Given the description of an element on the screen output the (x, y) to click on. 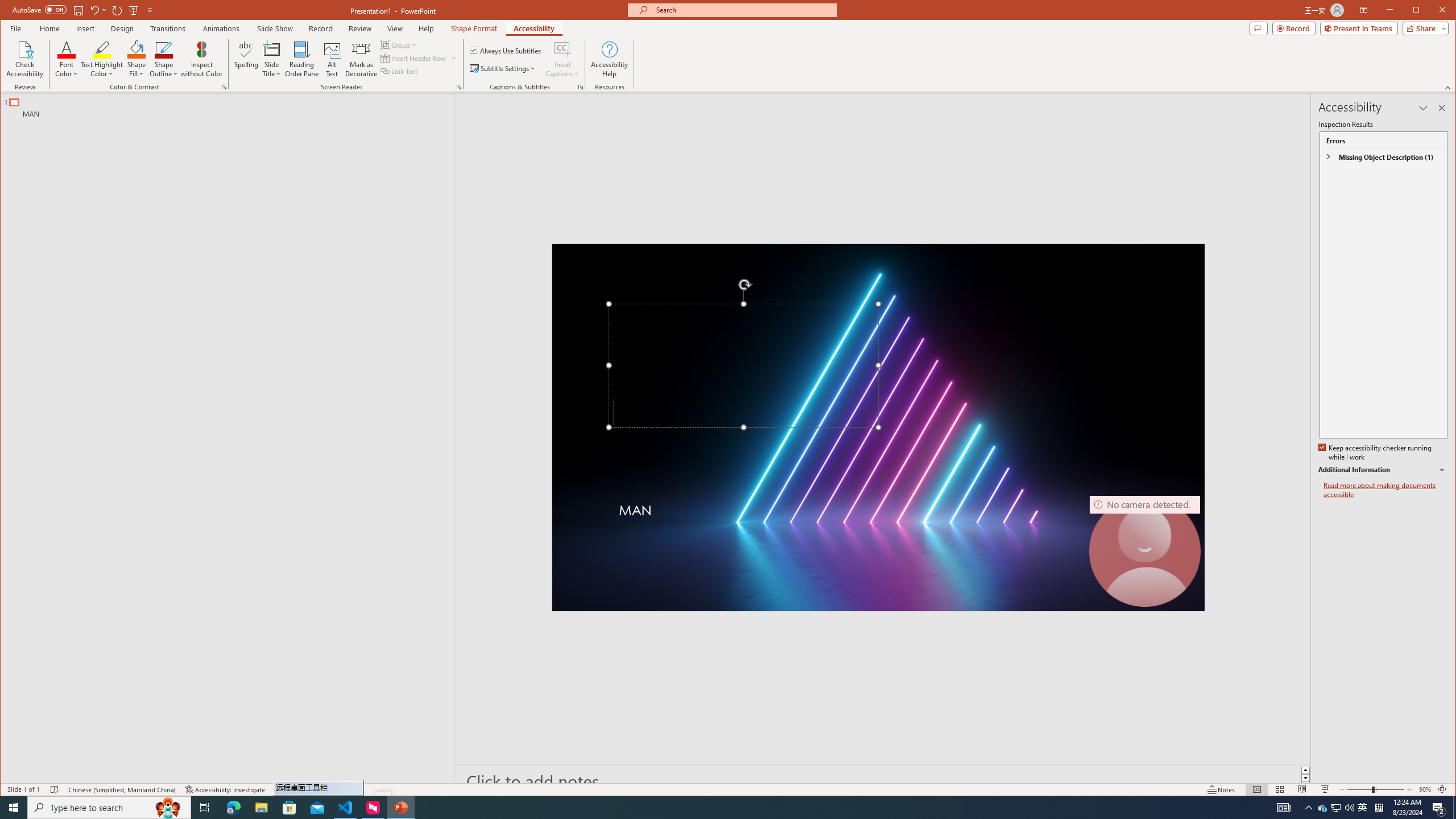
Text Highlight Color Yellow (102, 48)
Slide Notes (882, 780)
Neon laser lights aligned to form a triangle (877, 427)
Title TextBox (742, 365)
